Given the description of an element on the screen output the (x, y) to click on. 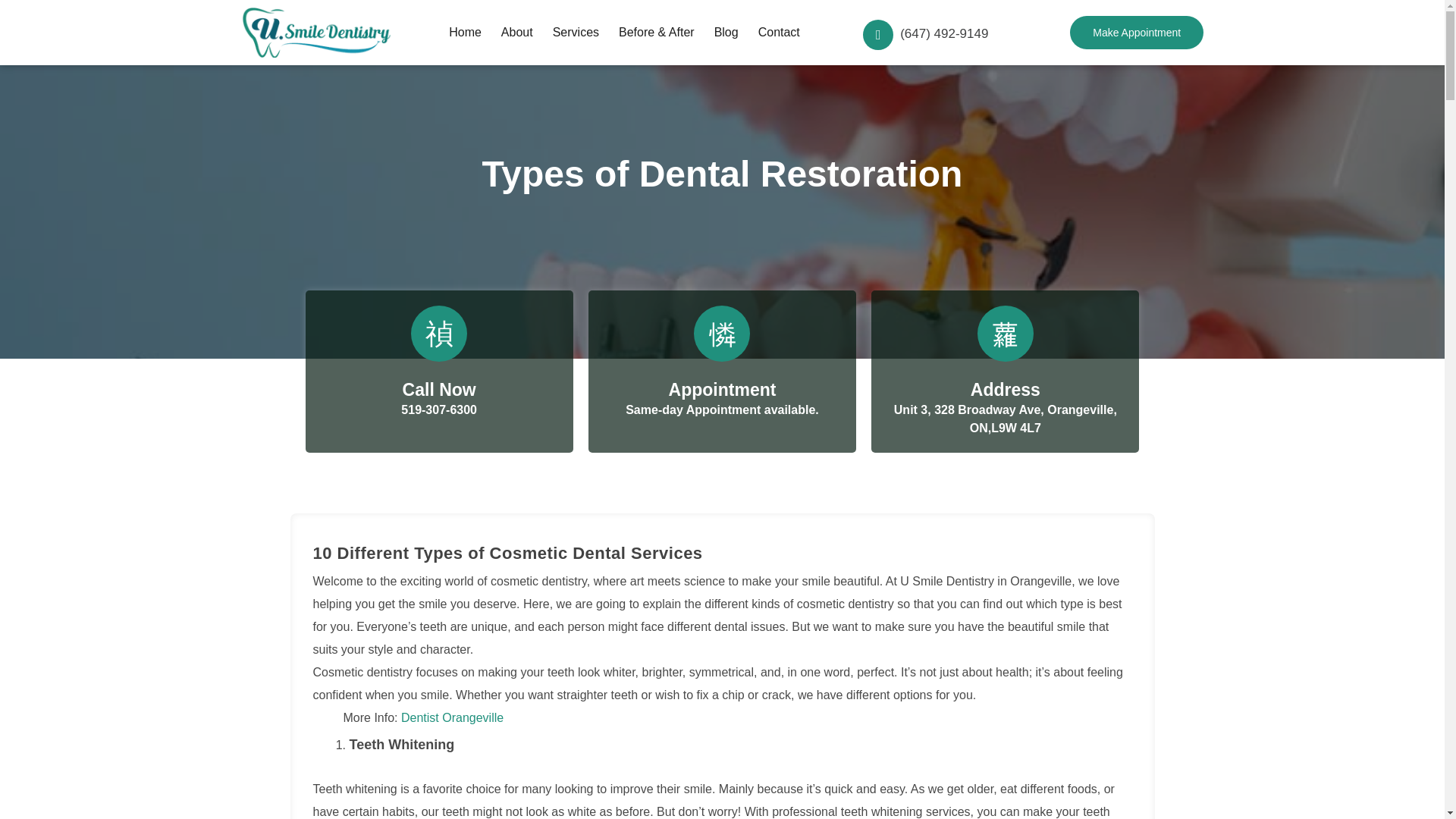
Home (465, 32)
Contact (778, 32)
Services (575, 32)
Blog (726, 32)
About (517, 32)
